Given the description of an element on the screen output the (x, y) to click on. 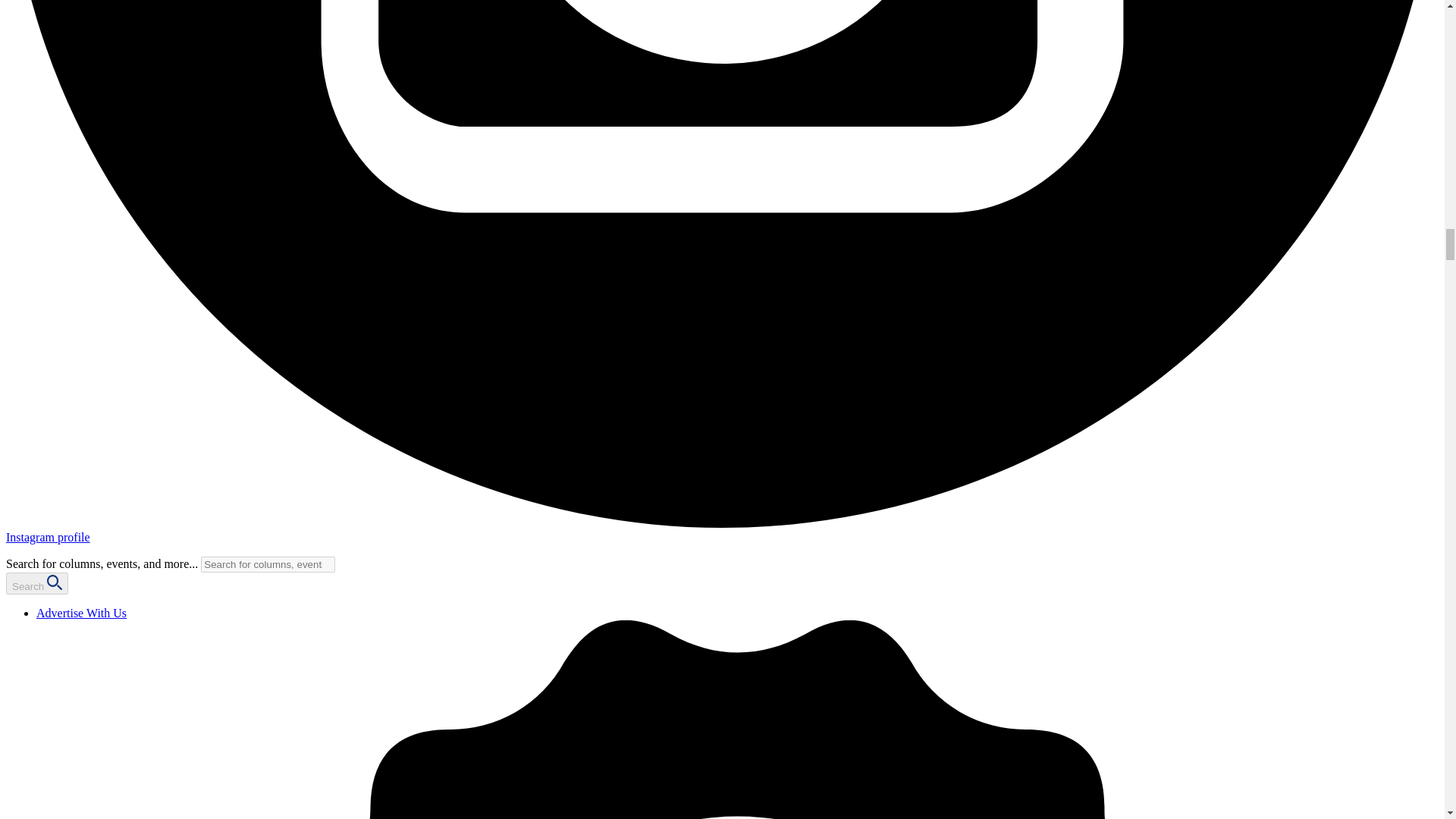
Advertise With Us (81, 612)
Search (36, 583)
